Given the description of an element on the screen output the (x, y) to click on. 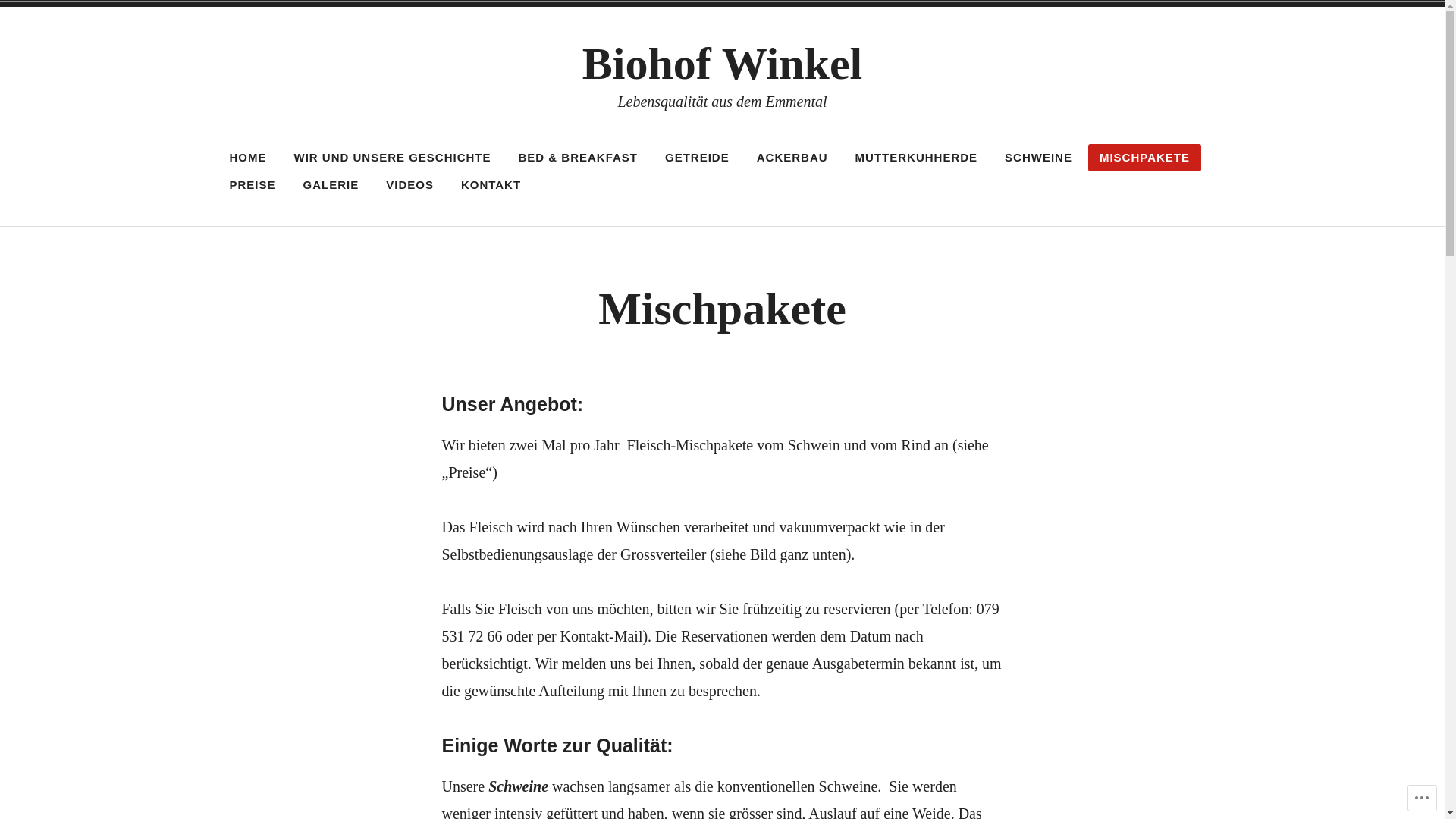
Biohof Winkel Element type: text (722, 63)
ACKERBAU Element type: text (792, 157)
BED & BREAKFAST Element type: text (578, 157)
GETREIDE Element type: text (696, 157)
GALERIE Element type: text (330, 184)
MISCHPAKETE Element type: text (1144, 157)
SCHWEINE Element type: text (1038, 157)
PREISE Element type: text (252, 184)
MUTTERKUHHERDE Element type: text (916, 157)
VIDEOS Element type: text (409, 184)
WIR UND UNSERE GESCHICHTE Element type: text (392, 157)
KONTAKT Element type: text (490, 184)
HOME Element type: text (248, 157)
